Given the description of an element on the screen output the (x, y) to click on. 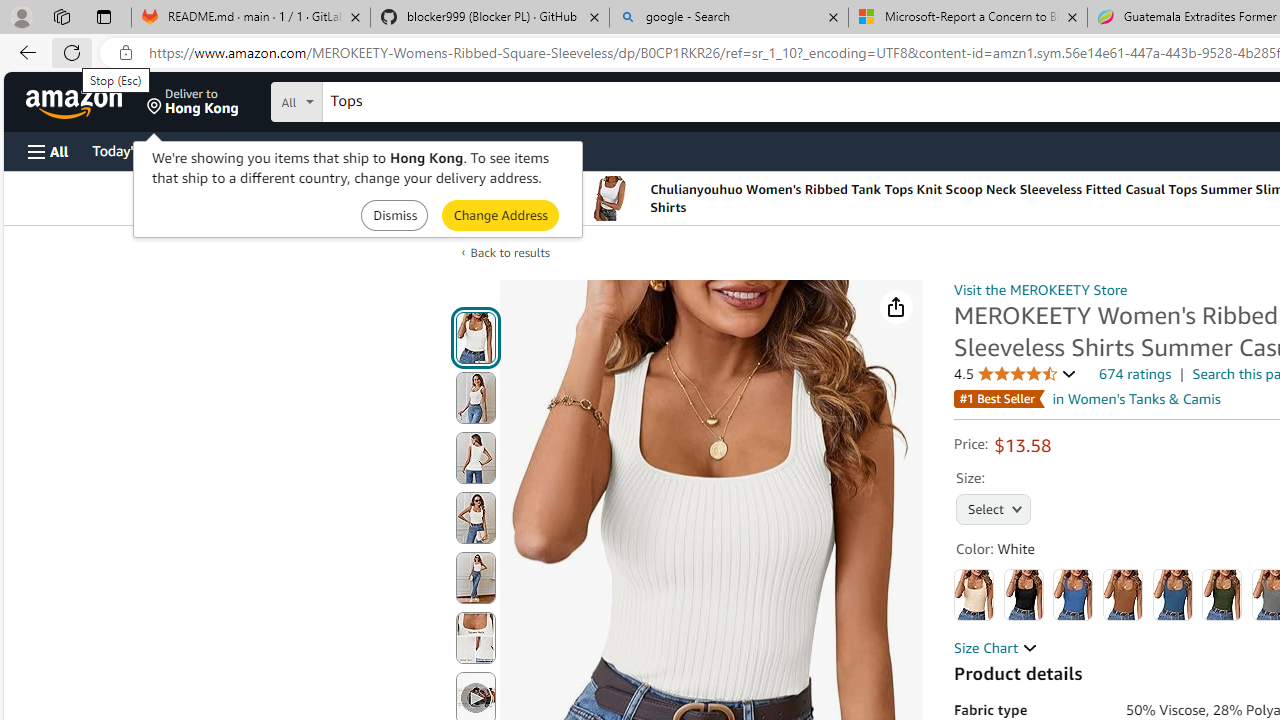
Deliver to Hong Kong (193, 101)
Search in (371, 99)
Visit the MEROKEETY Store (1040, 289)
Gift Cards (442, 150)
Sell (509, 150)
Black (1023, 594)
Amazon (76, 101)
4.5 4.5 out of 5 stars (1015, 373)
Submit (499, 214)
Green (1222, 594)
Beige (974, 594)
